Given the description of an element on the screen output the (x, y) to click on. 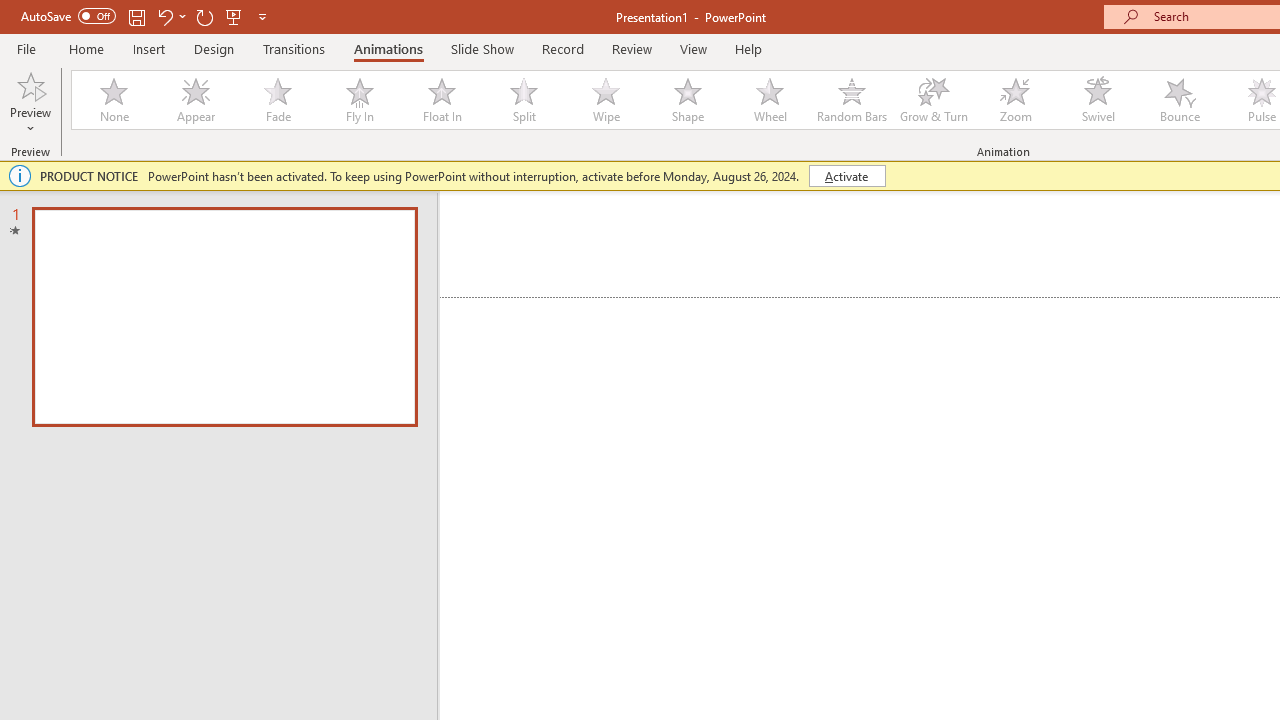
Swivel (1098, 100)
Bounce (1180, 100)
Grow & Turn (934, 100)
Activate (846, 175)
